Given the description of an element on the screen output the (x, y) to click on. 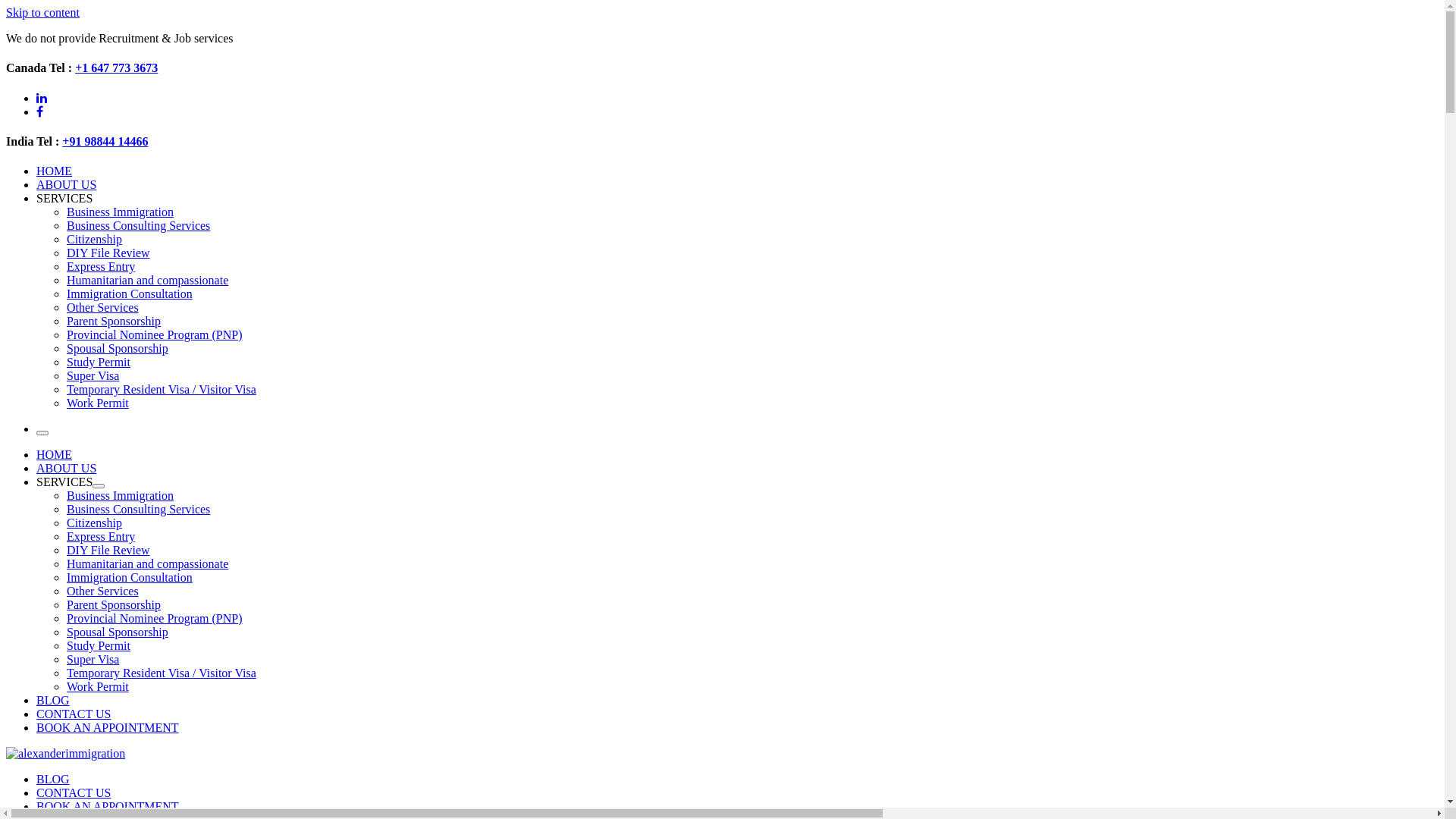
Parent Sponsorship Element type: text (113, 320)
HOME Element type: text (54, 170)
Express Entry Element type: text (100, 536)
BLOG Element type: text (52, 699)
DIY File Review Element type: text (108, 549)
Business Immigration Element type: text (119, 495)
SERVICES Element type: text (64, 197)
DIY File Review Element type: text (108, 252)
ABOUT US Element type: text (66, 467)
alexanderimmigration Element type: text (59, 778)
Study Permit Element type: text (98, 361)
Citizenship Element type: text (94, 522)
Spousal Sponsorship Element type: text (117, 631)
Citizenship Element type: text (94, 238)
Immigration Consultation Element type: text (129, 577)
ABOUT US Element type: text (66, 184)
Provincial Nominee Program (PNP) Element type: text (154, 617)
Immigration Consultation Element type: text (129, 293)
CONTACT US Element type: text (73, 713)
Humanitarian and compassionate Element type: text (147, 563)
Business Consulting Services Element type: text (138, 508)
Humanitarian and compassionate Element type: text (147, 279)
CONTACT US Element type: text (73, 792)
Express Entry Element type: text (100, 266)
Super Visa Element type: text (92, 375)
Study Permit Element type: text (98, 645)
Temporary Resident Visa / Visitor Visa Element type: text (161, 672)
BOOK AN APPOINTMENT Element type: text (107, 727)
Work Permit Element type: text (97, 402)
Skip to content Element type: text (42, 12)
+1 647 773 3673 Element type: text (116, 67)
Other Services Element type: text (102, 307)
BOOK AN APPOINTMENT Element type: text (107, 806)
SERVICES Element type: text (64, 481)
BLOG Element type: text (52, 778)
Super Visa Element type: text (92, 658)
Other Services Element type: text (102, 590)
Business Consulting Services Element type: text (138, 225)
HOME Element type: text (54, 454)
Parent Sponsorship Element type: text (113, 604)
Provincial Nominee Program (PNP) Element type: text (154, 334)
Business Immigration Element type: text (119, 211)
+91 98844 14466 Element type: text (104, 140)
Temporary Resident Visa / Visitor Visa Element type: text (161, 388)
Spousal Sponsorship Element type: text (117, 348)
Work Permit Element type: text (97, 686)
